Given the description of an element on the screen output the (x, y) to click on. 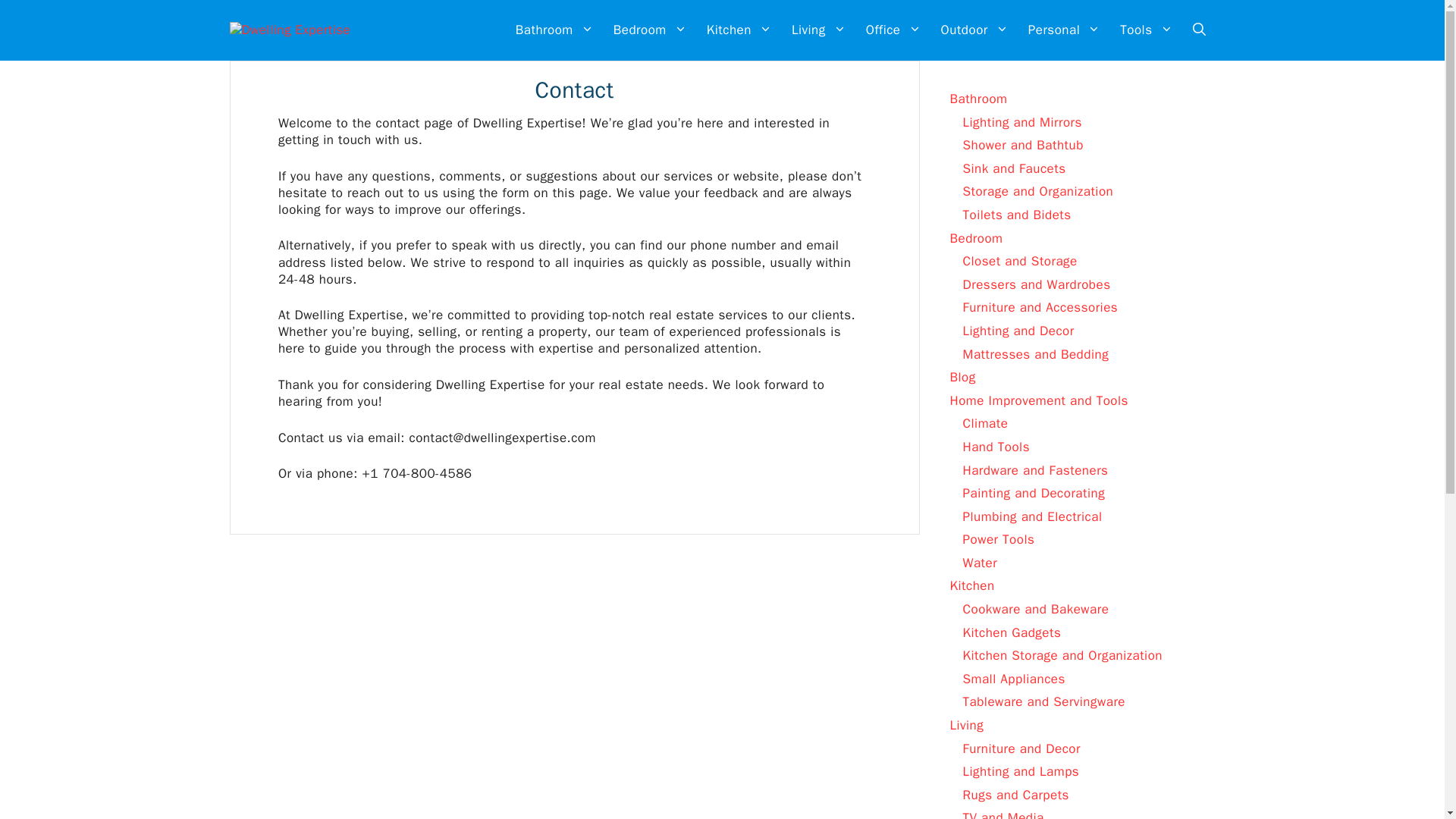
Outdoor (974, 30)
Living (818, 30)
Bedroom (650, 30)
Bathroom (554, 30)
Office (893, 30)
Kitchen (739, 30)
